Given the description of an element on the screen output the (x, y) to click on. 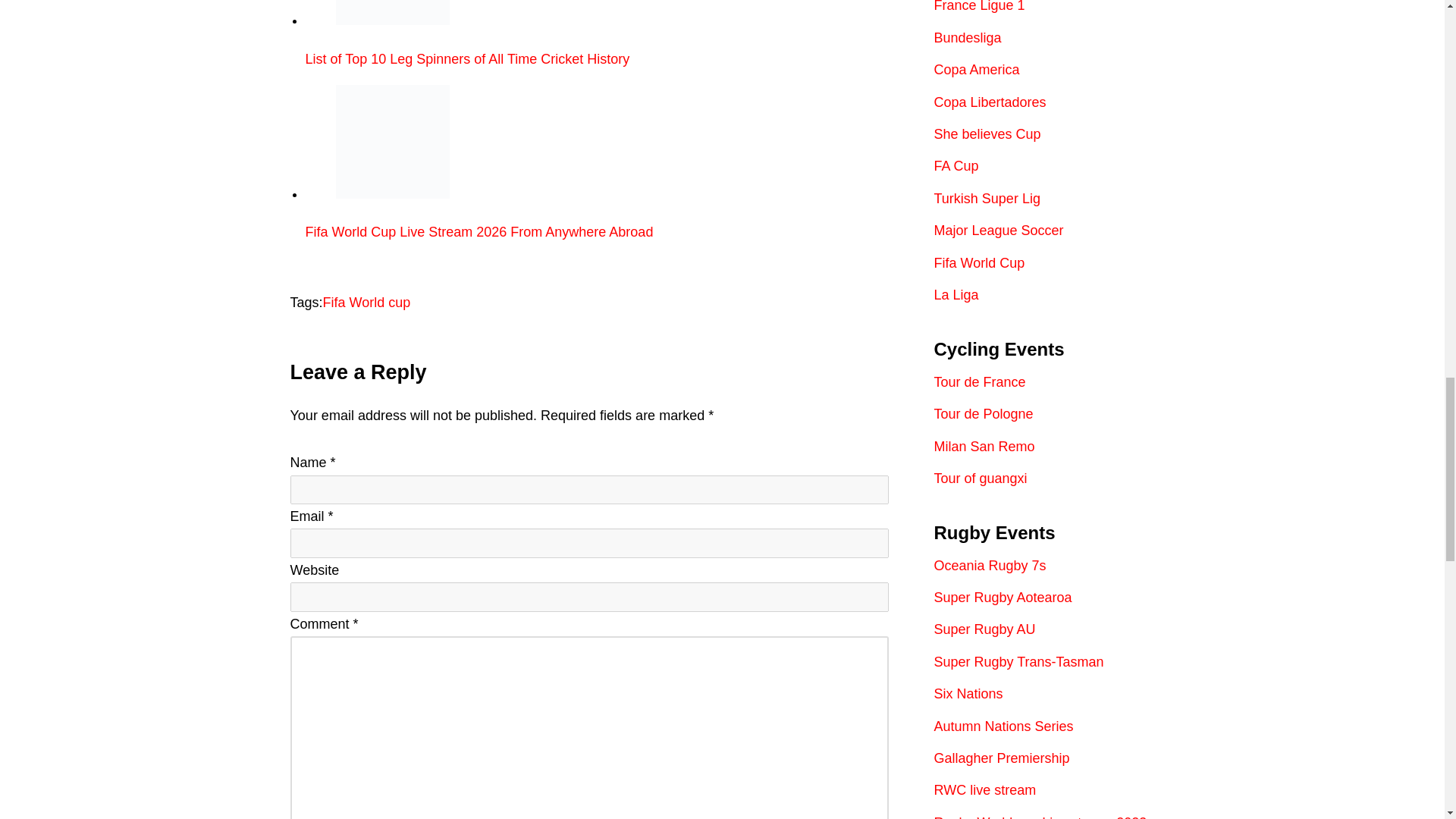
List of Top 10 Leg Spinners of All Time Cricket History (596, 33)
List of Top 10 Leg Spinners of All Time Cricket History (391, 12)
Fifa World Cup Live Stream 2026 From Anywhere Abroad (391, 142)
Fifa World Cup Live Stream 2026 From Anywhere Abroad (596, 162)
Fifa World cup (366, 302)
Fifa World cup (366, 302)
